Given the description of an element on the screen output the (x, y) to click on. 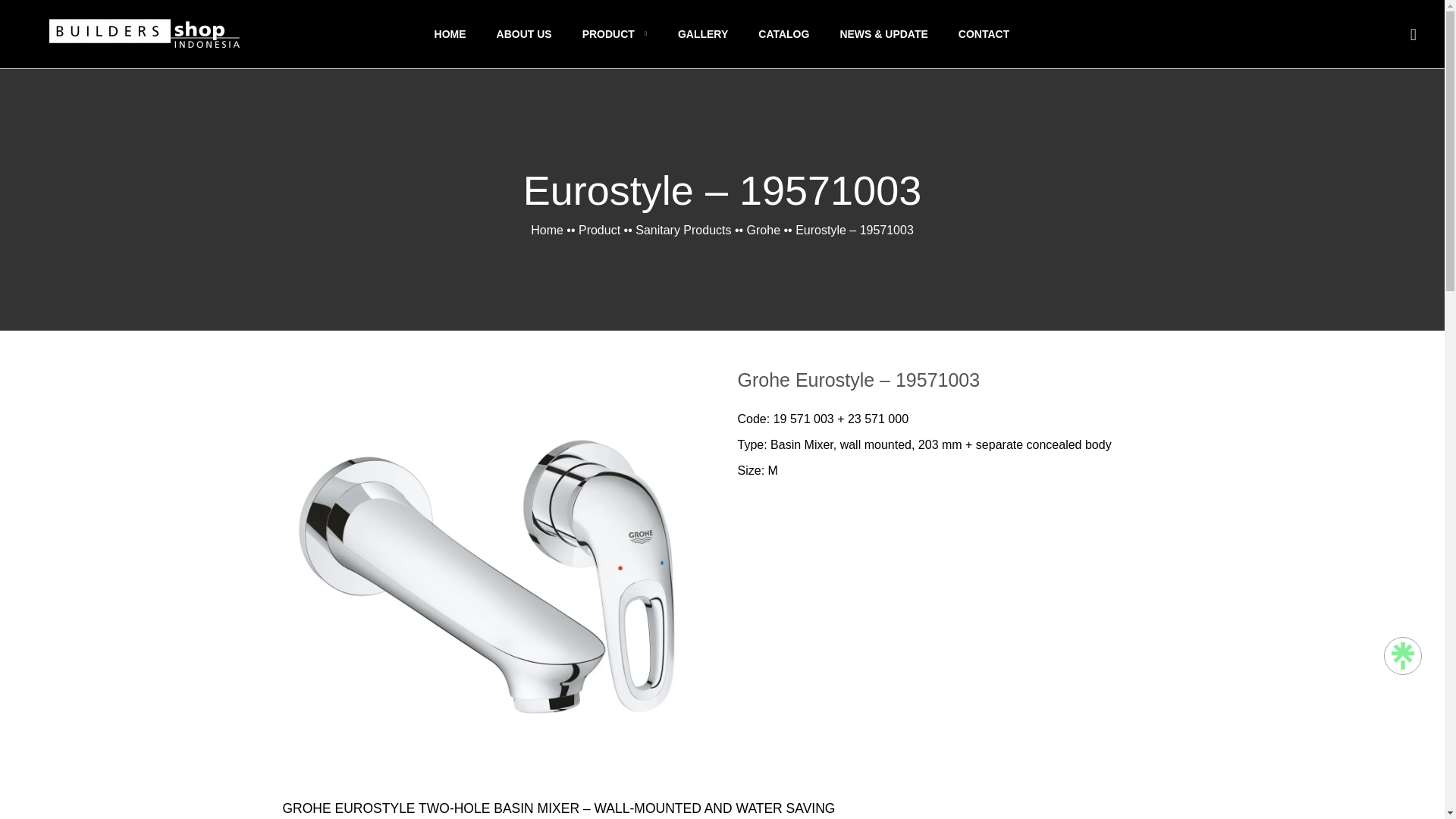
HOME (449, 33)
PRODUCT (614, 33)
Our Marketplace (1403, 655)
GALLERY (703, 33)
ABOUT US (523, 33)
CONTACT (983, 33)
CATALOG (783, 33)
